Given the description of an element on the screen output the (x, y) to click on. 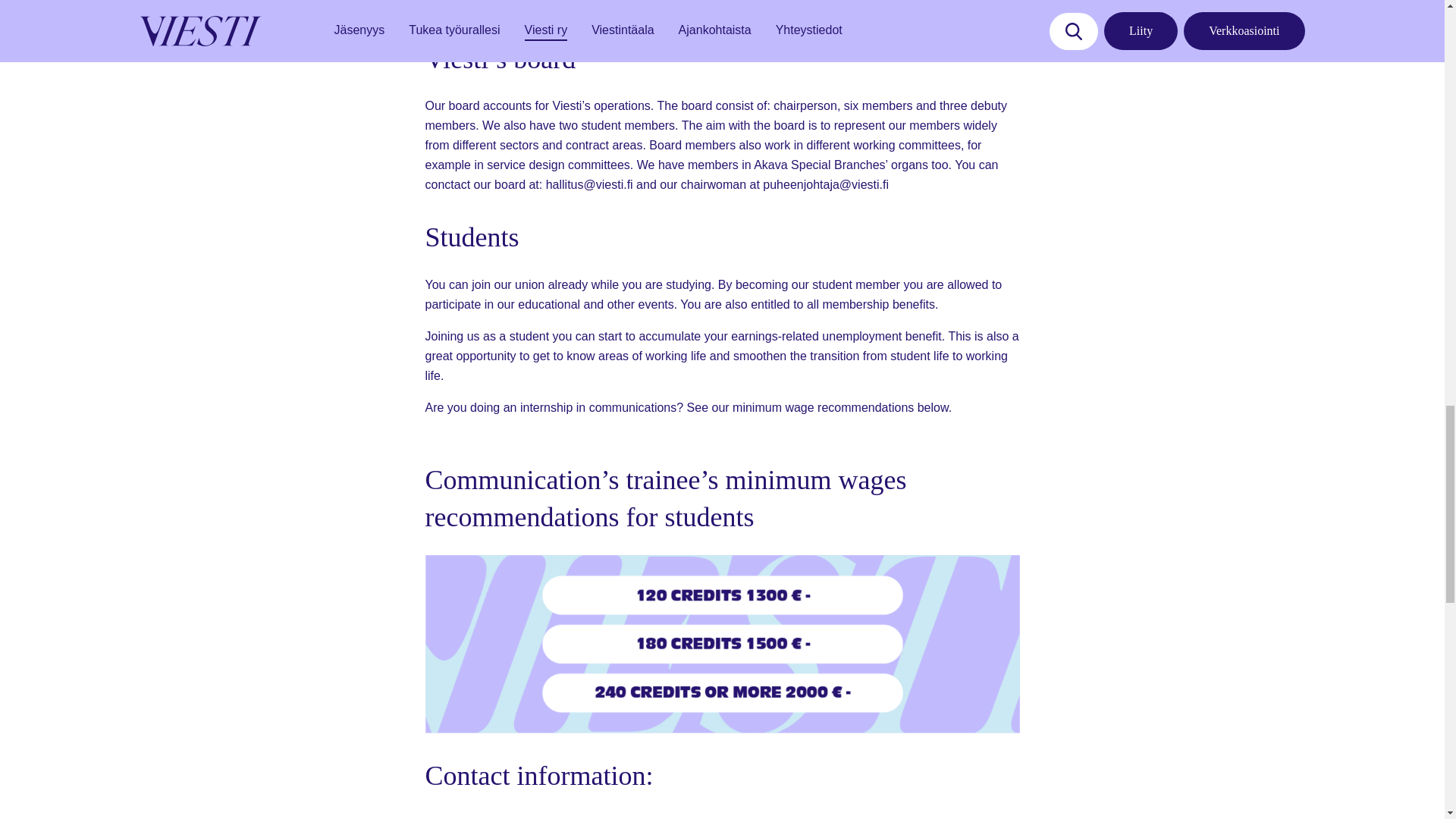
AYT. (643, 6)
